Given the description of an element on the screen output the (x, y) to click on. 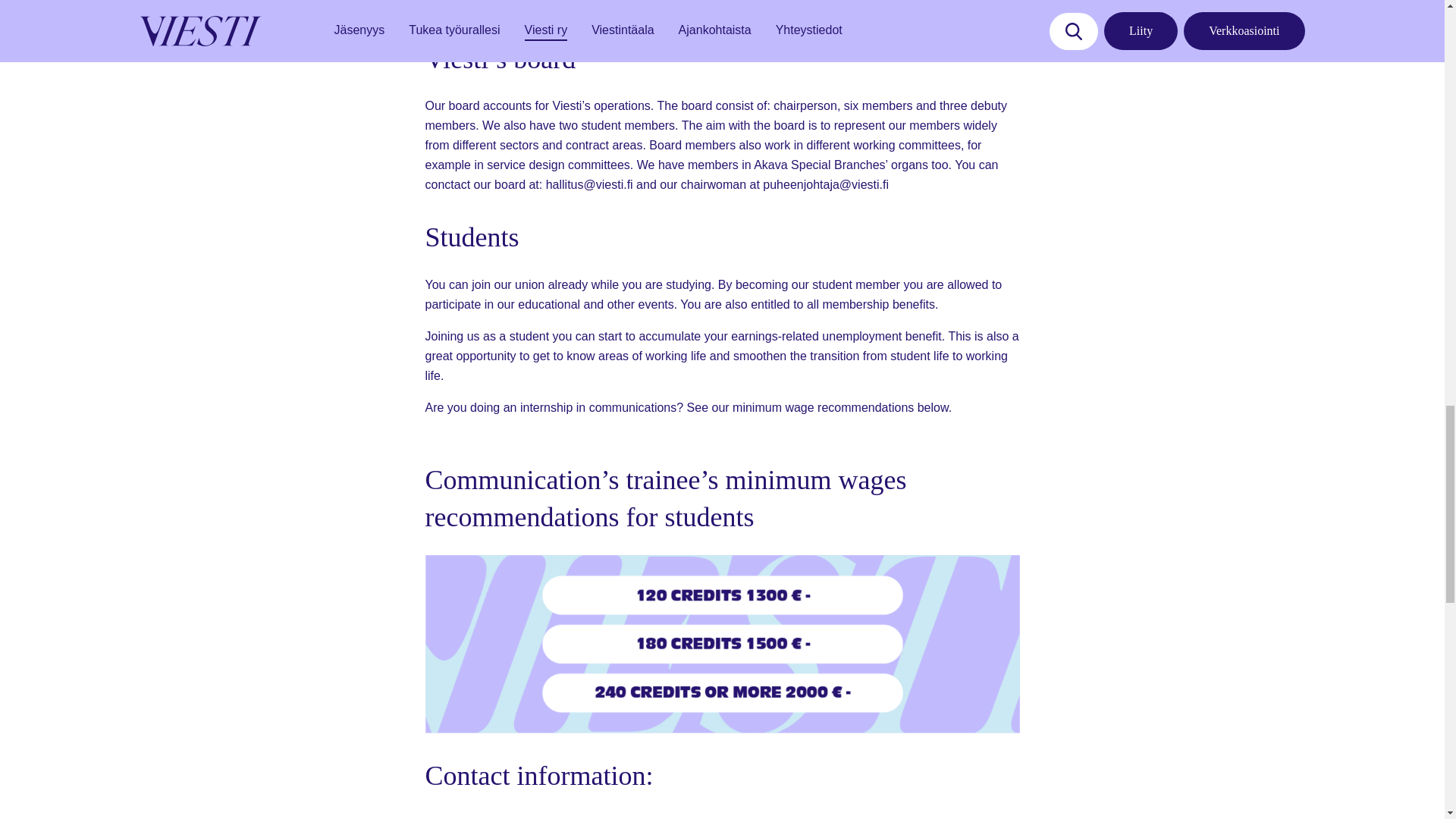
AYT. (643, 6)
